Given the description of an element on the screen output the (x, y) to click on. 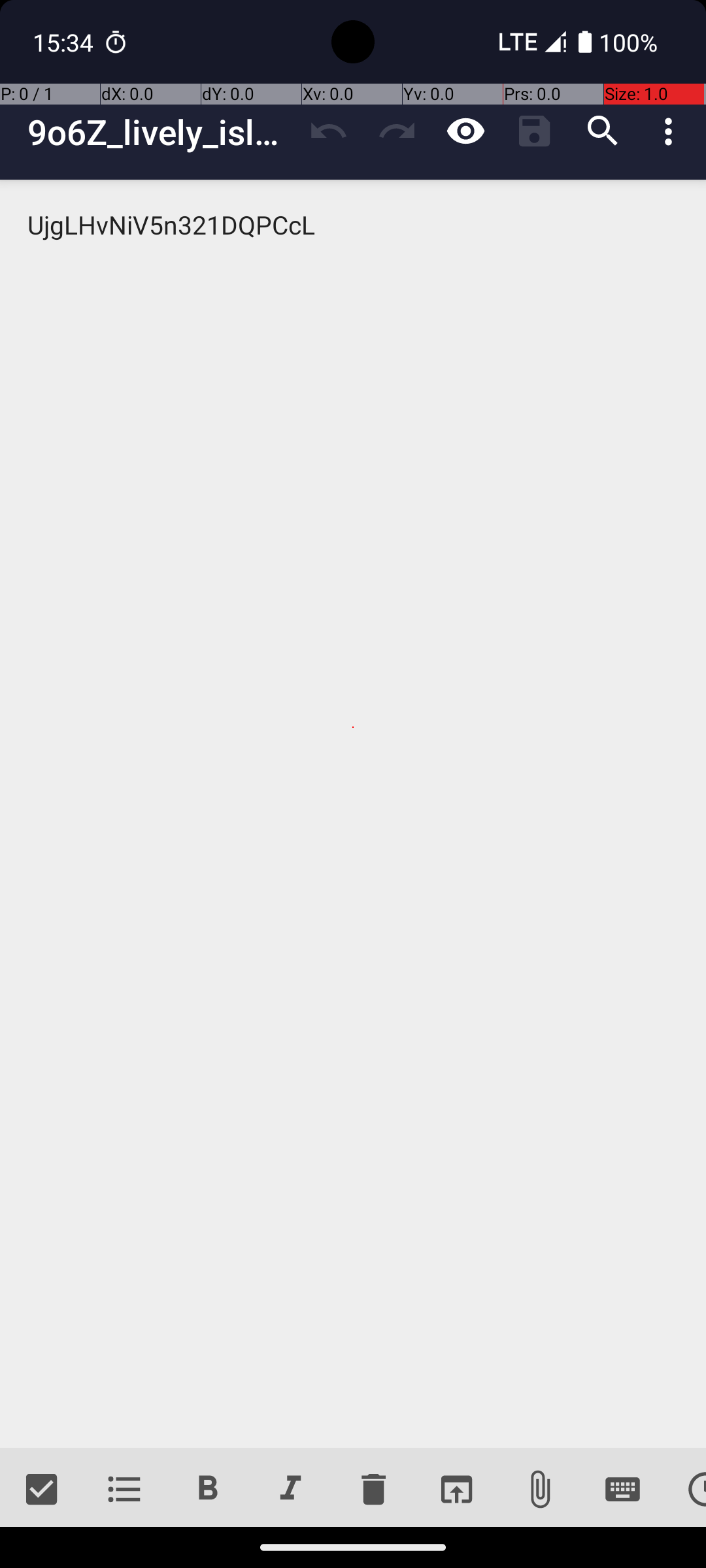
9o6Z_lively_island_edited Element type: android.widget.TextView (160, 131)
UjgLHvNiV5n321DQPCcL
 Element type: android.widget.EditText (353, 813)
